Given the description of an element on the screen output the (x, y) to click on. 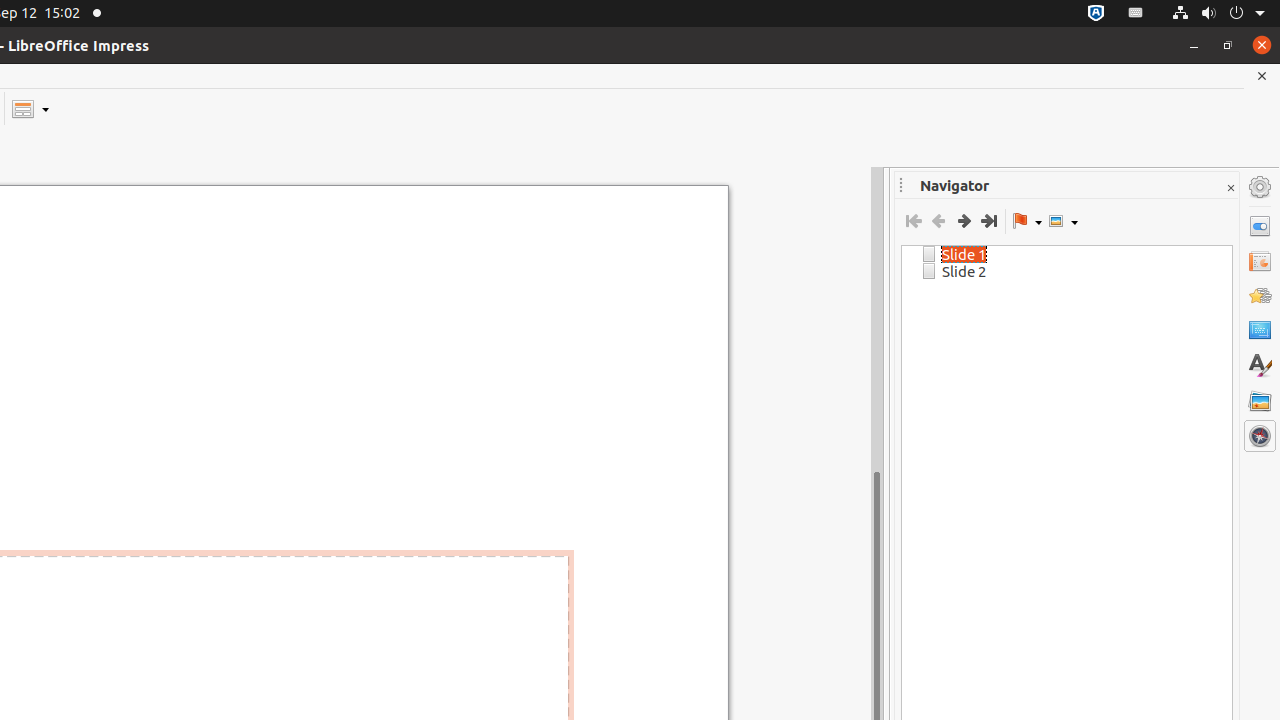
Master Slides Element type: radio-button (1260, 331)
Animation Element type: radio-button (1260, 296)
